Given the description of an element on the screen output the (x, y) to click on. 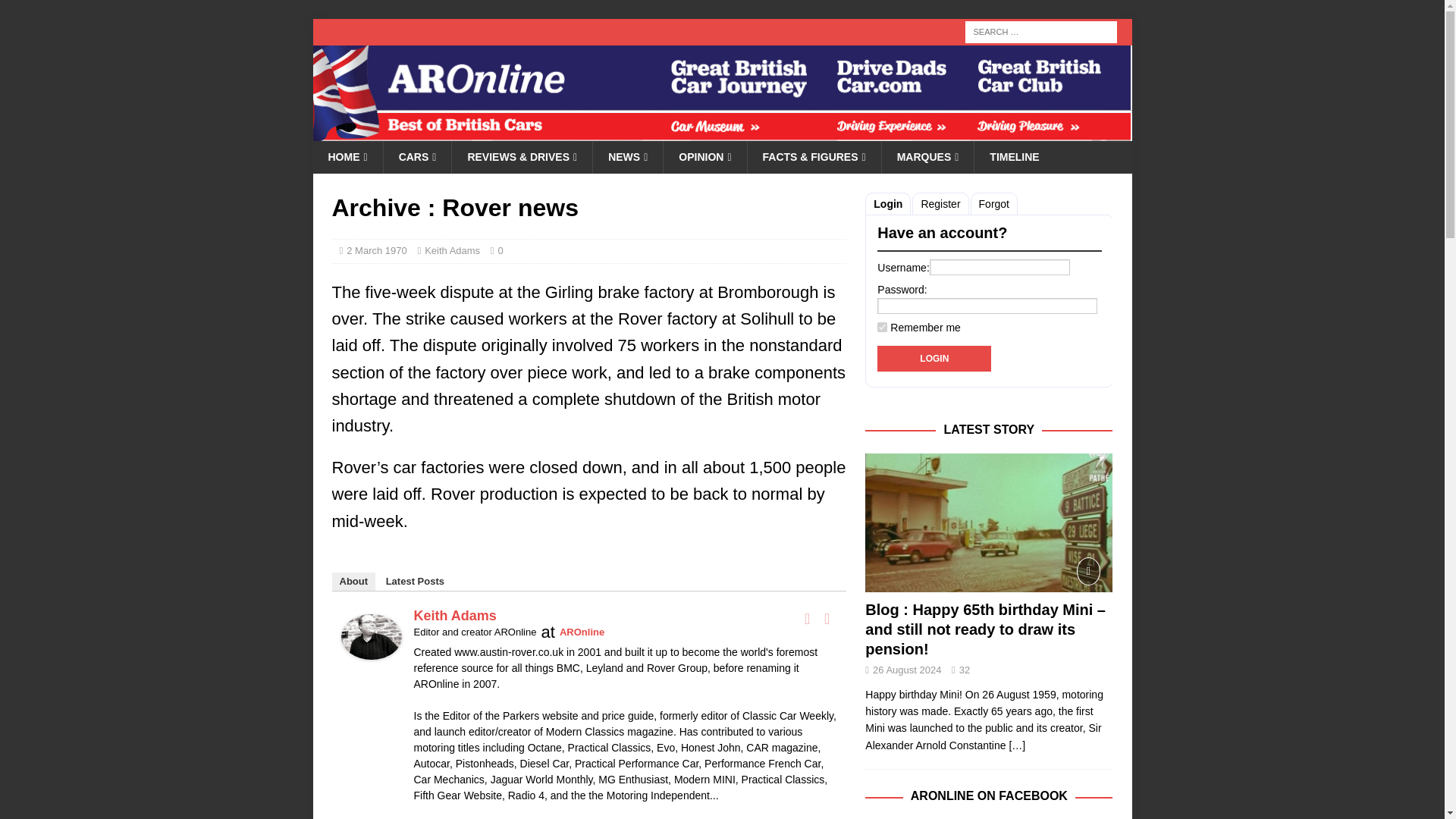
AROnline (722, 132)
Search (56, 11)
Keith Adams (370, 646)
HOME (347, 156)
Login (934, 358)
AROnline model histories (416, 156)
Twitter (826, 618)
CARS (416, 156)
Archive : Rover news (1017, 745)
Facebook (806, 618)
